Given the description of an element on the screen output the (x, y) to click on. 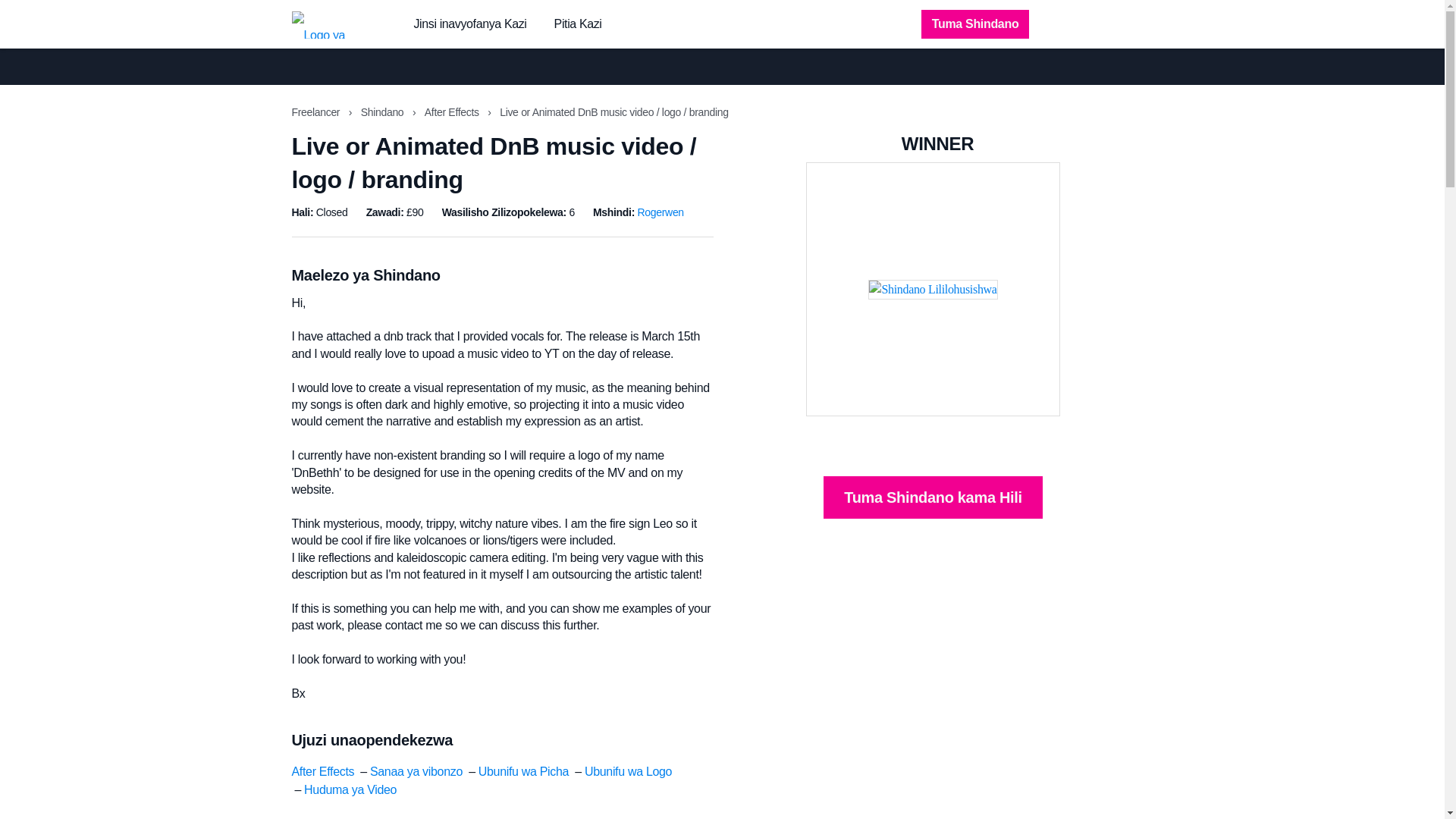
Tuma Shindano kama Hili (933, 496)
After Effects (453, 111)
Ubunifu wa Logo (628, 771)
Tuma Shindano (975, 23)
Shindano (383, 111)
Rogerwen (660, 212)
Jinsi inavyofanya Kazi (470, 24)
After Effects (322, 771)
Huduma ya Video (350, 789)
Sanaa ya vibonzo (416, 771)
